Given the description of an element on the screen output the (x, y) to click on. 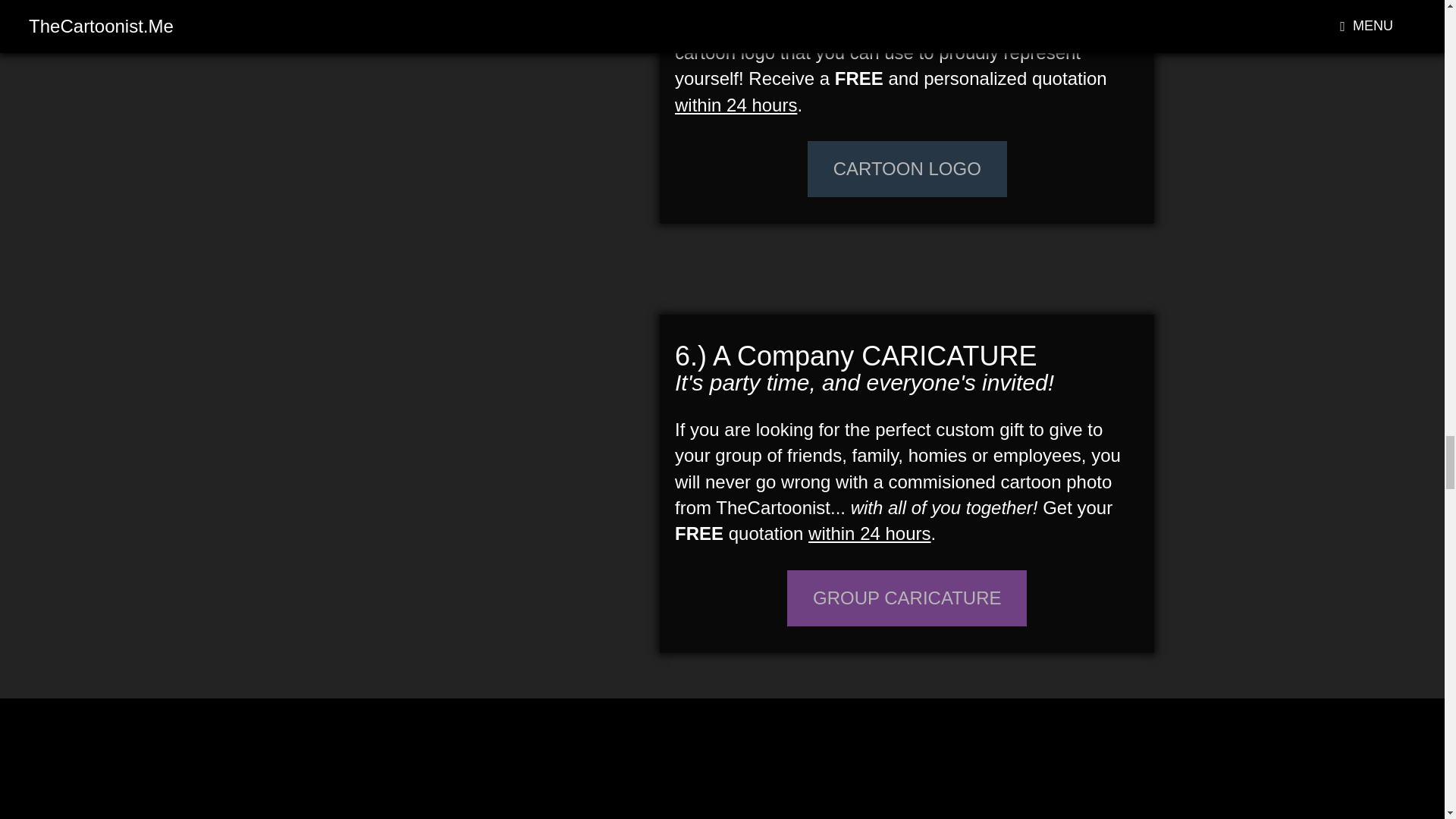
GROUP CARICATURE (906, 598)
CARTOON LOGO (907, 168)
